Given the description of an element on the screen output the (x, y) to click on. 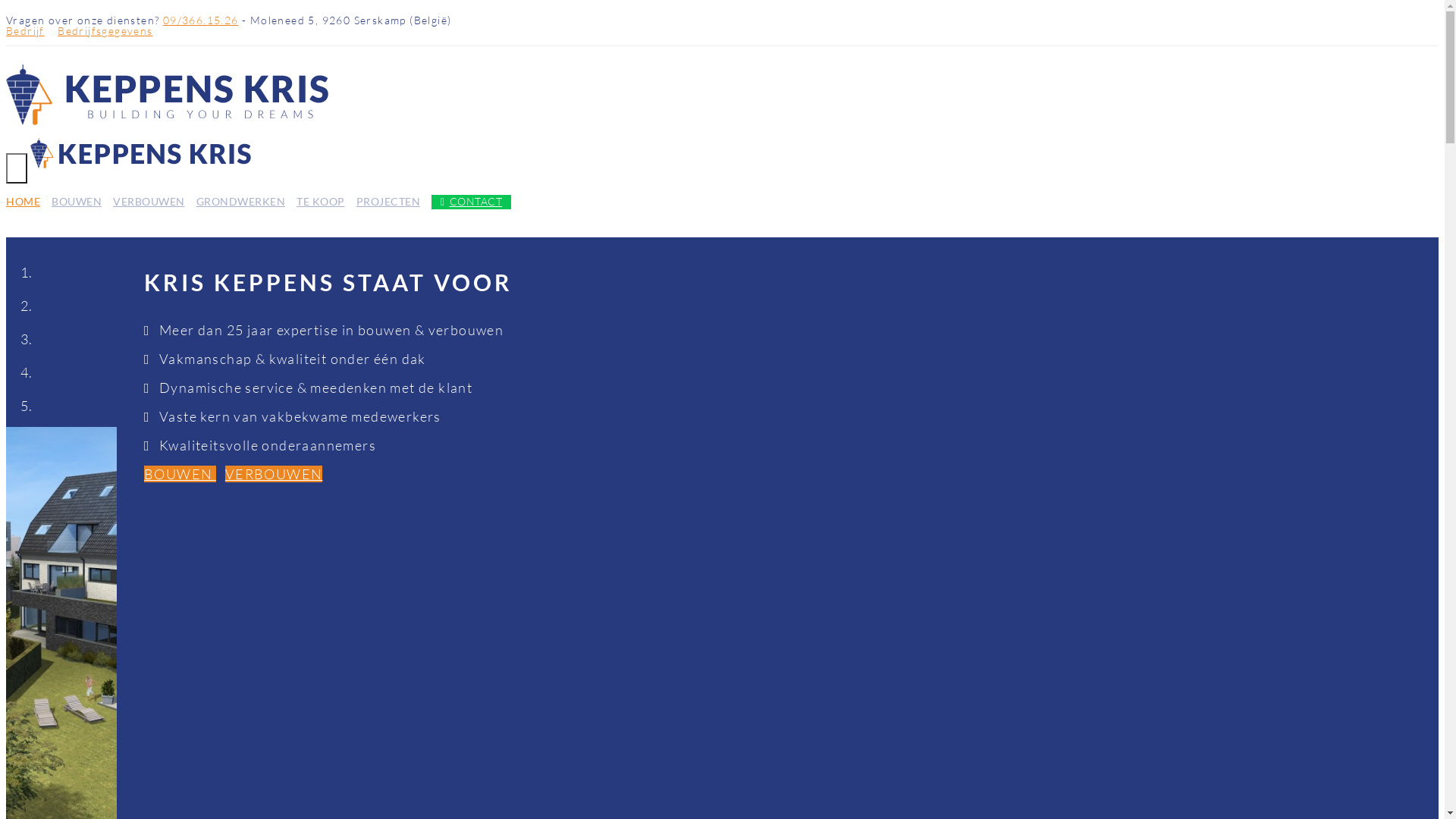
BOUWEN Element type: text (76, 201)
Bedrijfsgegevens Element type: text (104, 30)
GRONDWERKEN Element type: text (240, 201)
Bedrijf Element type: text (25, 30)
VERBOUWEN Element type: text (274, 473)
Bouwonderneming Kris Keppens Element type: hover (140, 162)
VERBOUWEN Element type: text (148, 201)
HOME Element type: text (23, 201)
BOUWEN Element type: text (180, 473)
09/366.15.26 Element type: text (200, 19)
PROJECTEN Element type: text (388, 201)
TE KOOP Element type: text (320, 201)
CONTACT Element type: text (471, 201)
